Given the description of an element on the screen output the (x, y) to click on. 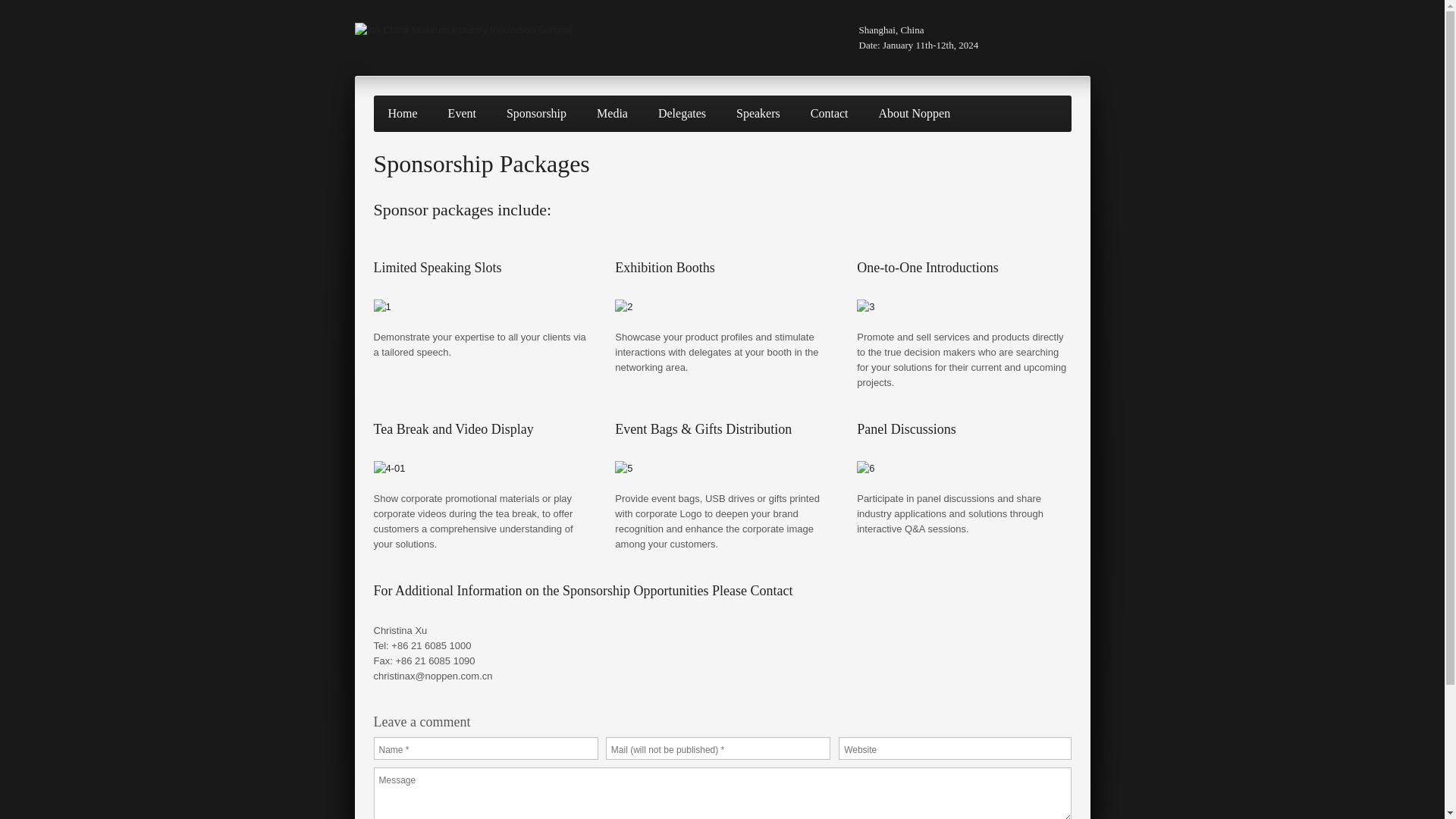
About Noppen (914, 113)
Media (612, 113)
Speakers (758, 113)
Contact (829, 113)
Home (401, 113)
Event (461, 113)
Delegates (681, 113)
Sponsorship (536, 113)
